Given the description of an element on the screen output the (x, y) to click on. 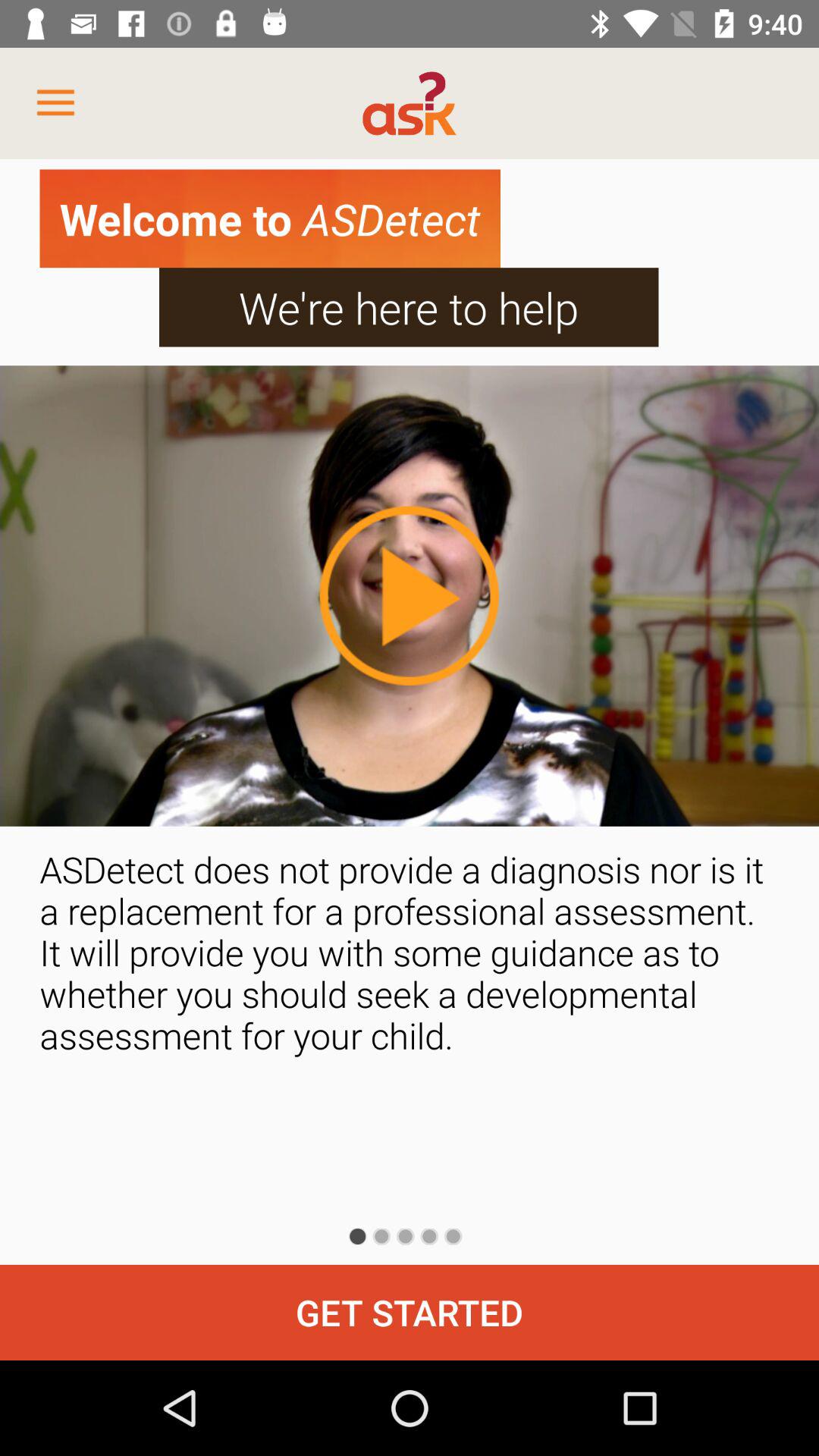
play video (408, 595)
